Given the description of an element on the screen output the (x, y) to click on. 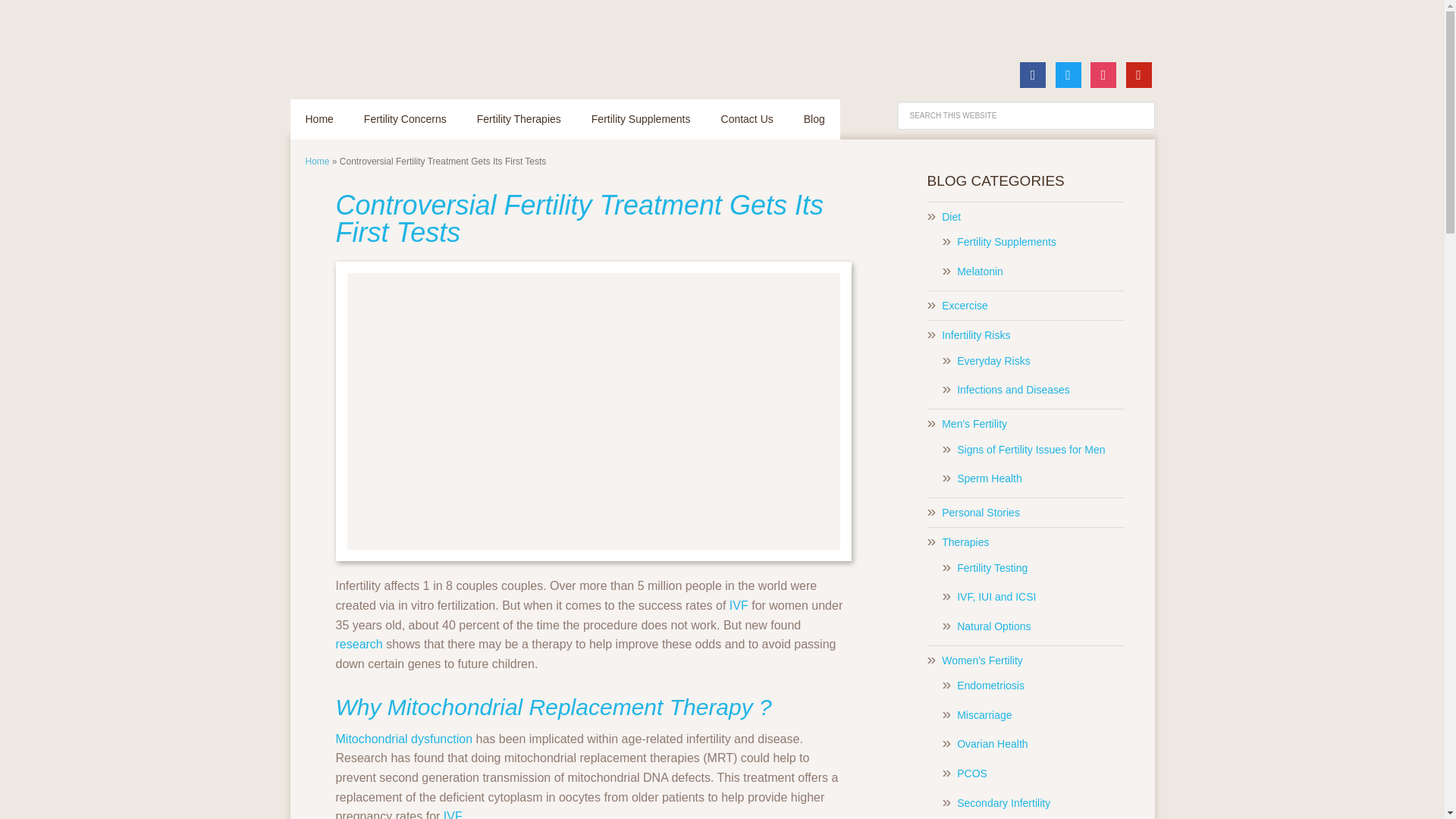
twitter (1068, 73)
IVF (452, 814)
Fertility Therapies (518, 119)
Twitter (1068, 73)
IVF (738, 604)
Facebook (1032, 73)
Home (316, 161)
facebook (1032, 73)
